Given the description of an element on the screen output the (x, y) to click on. 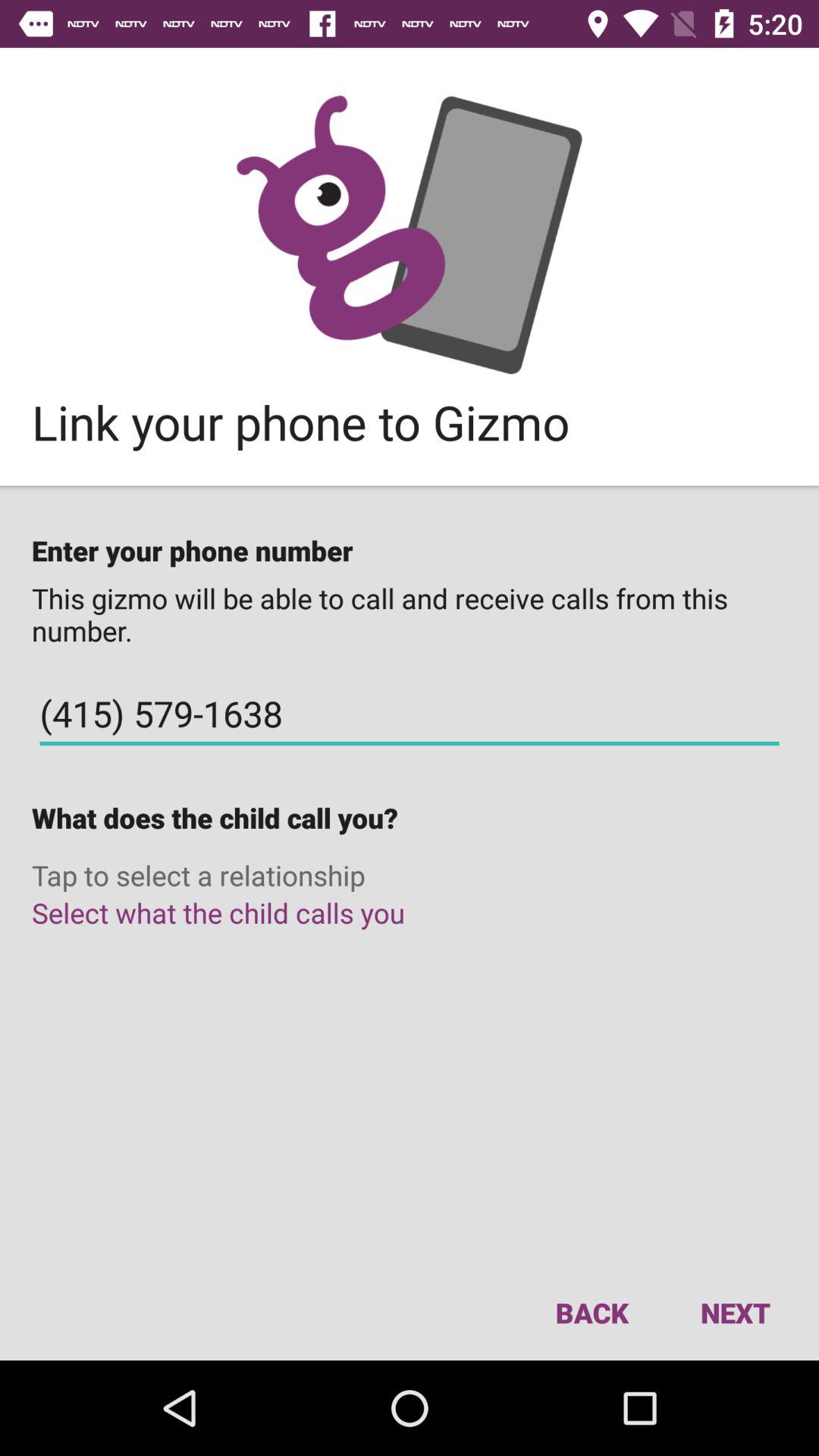
tap the item above the link your phone item (409, 234)
